Given the description of an element on the screen output the (x, y) to click on. 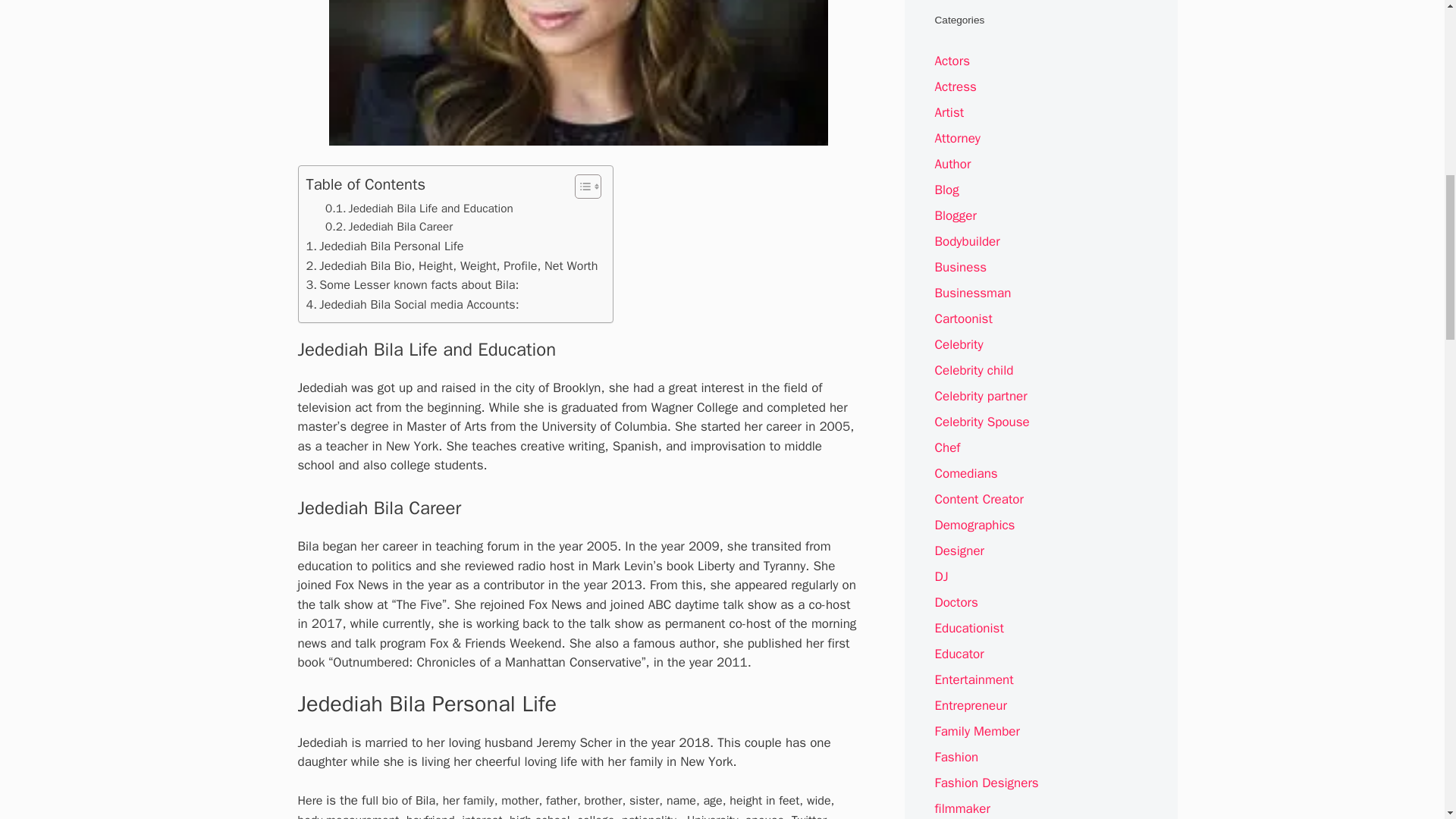
Jedediah Bila Personal Life (384, 246)
Jedediah Bila Life and Education (418, 208)
Jedediah Bila Career (388, 226)
Jedediah Bila Personal Life (384, 246)
Jedediah Bila Career (388, 226)
Some Lesser known facts about Bila: (412, 284)
Jedediah Bila Life and Education (418, 208)
Jedediah Bila Social media Accounts:  (413, 304)
Some Lesser known facts about Bila: (412, 284)
